Given the description of an element on the screen output the (x, y) to click on. 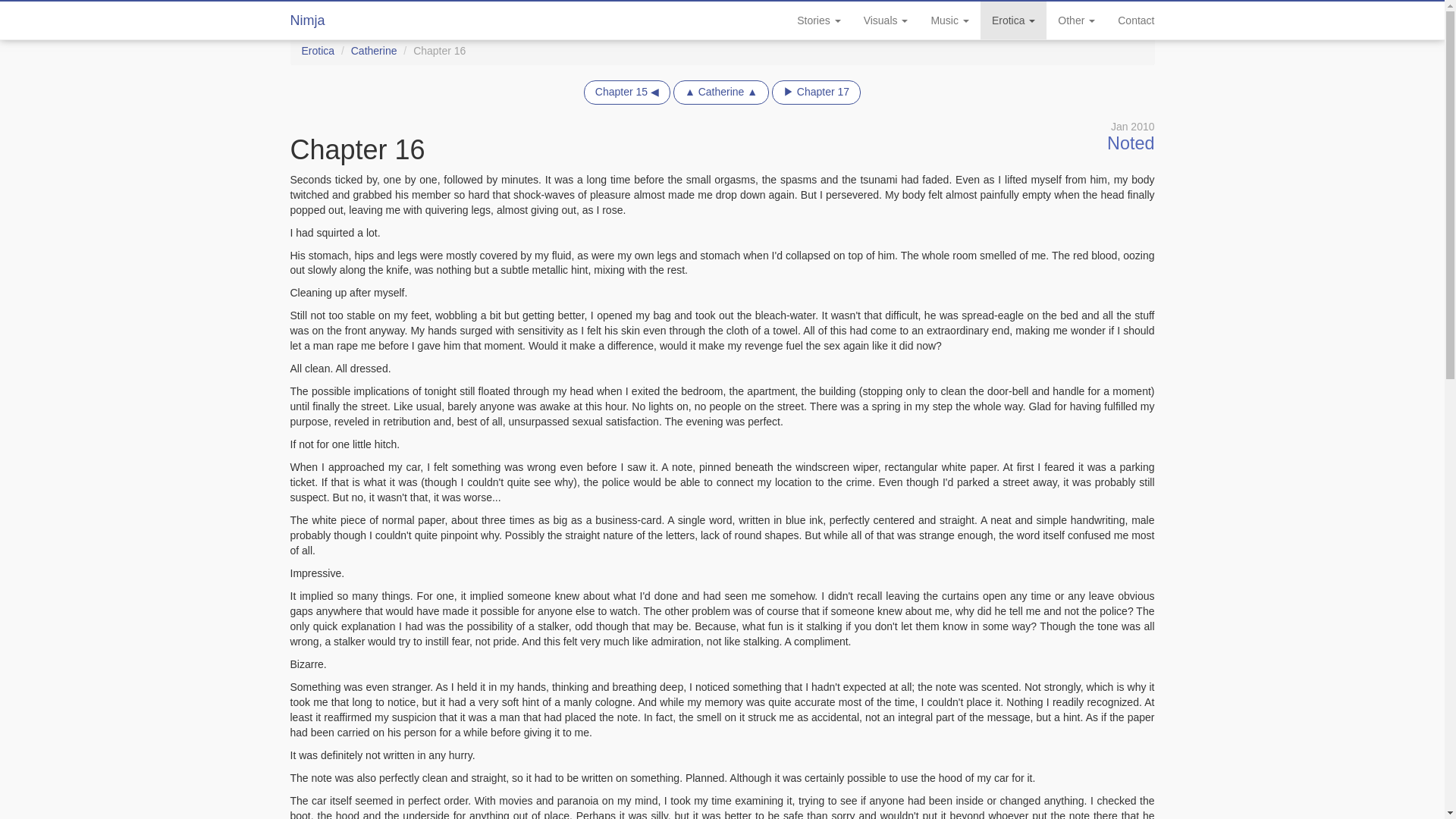
Stories (818, 20)
Other (1076, 20)
Music (948, 20)
Contact (1136, 20)
Nimja (307, 20)
Catherine (373, 50)
Visuals (885, 20)
Erotica (1012, 20)
Erotica (317, 50)
